Given the description of an element on the screen output the (x, y) to click on. 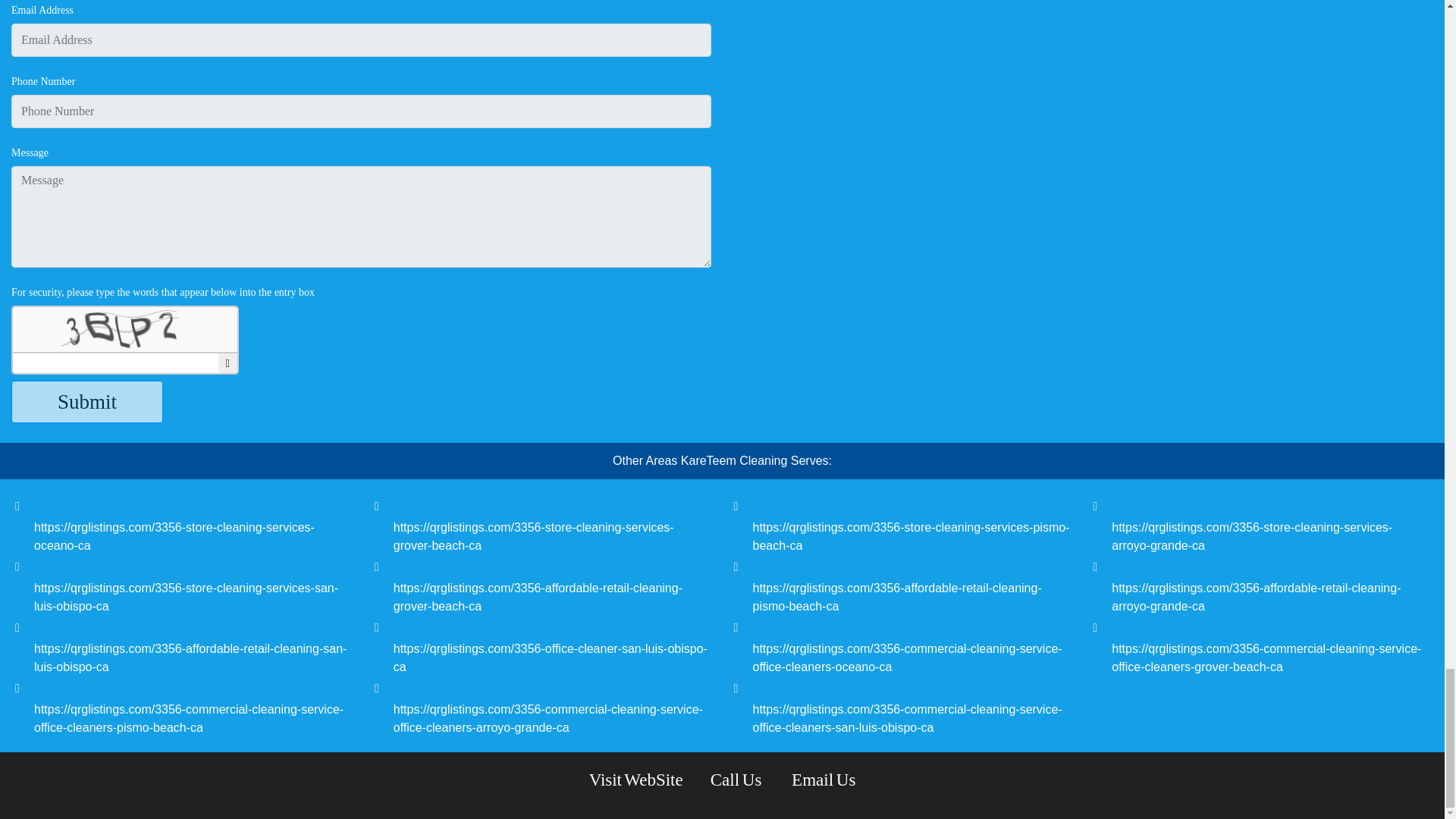
Call Us (737, 779)
Visit WebSite (636, 779)
Email Us (823, 779)
Submit (87, 402)
